Given the description of an element on the screen output the (x, y) to click on. 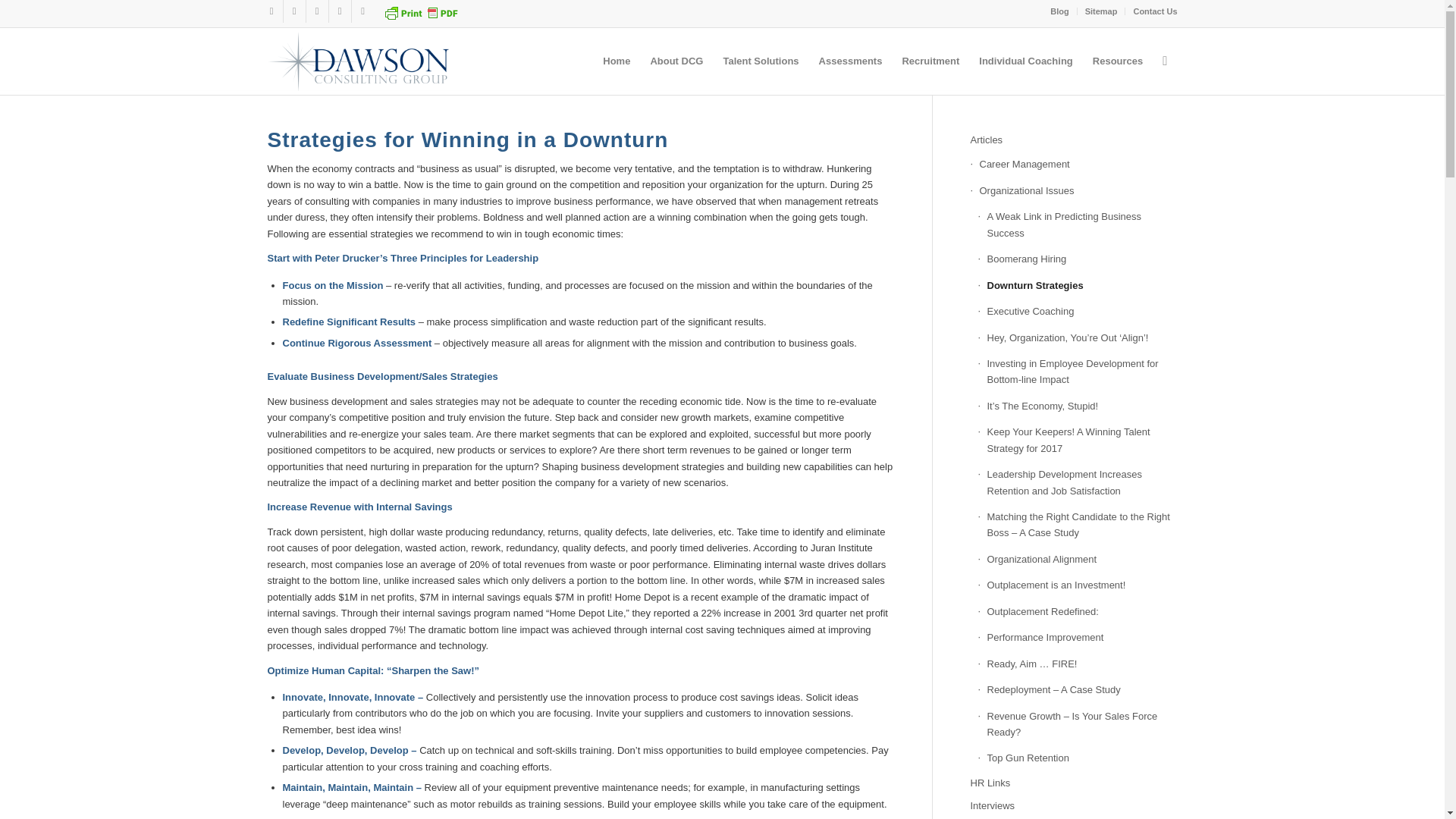
Talent Solutions (760, 61)
Dawson Consulting Group (357, 61)
Blog (1058, 11)
About DCG (676, 61)
Facebook (294, 11)
Contact Us (1154, 11)
X (317, 11)
Rss (363, 11)
LinkedIn (271, 11)
Sitemap (1101, 11)
Youtube (339, 11)
